Given the description of an element on the screen output the (x, y) to click on. 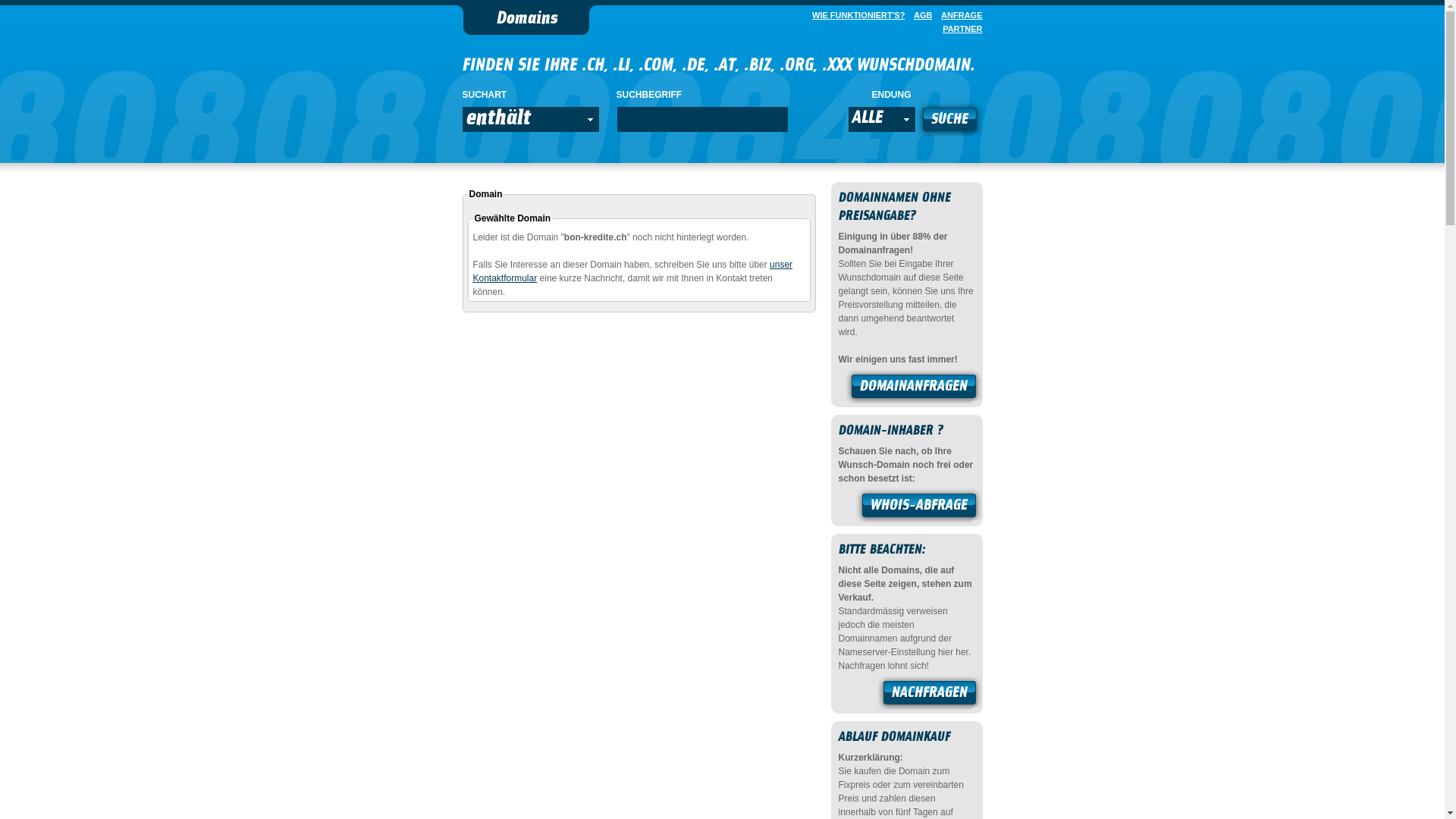
PARTNER Element type: text (959, 28)
SUCHE Element type: text (949, 121)
ANFRAGE Element type: text (958, 14)
WHOIS-ABFRAGE Element type: text (918, 507)
DOMAINANFRAGEN Element type: text (913, 387)
AGB Element type: text (919, 14)
WIE FUNKTIONIERT'S? Element type: text (855, 14)
unser Kontaktformular Element type: text (633, 271)
NACHFRAGEN Element type: text (929, 694)
Domains Element type: text (526, 19)
